Given the description of an element on the screen output the (x, y) to click on. 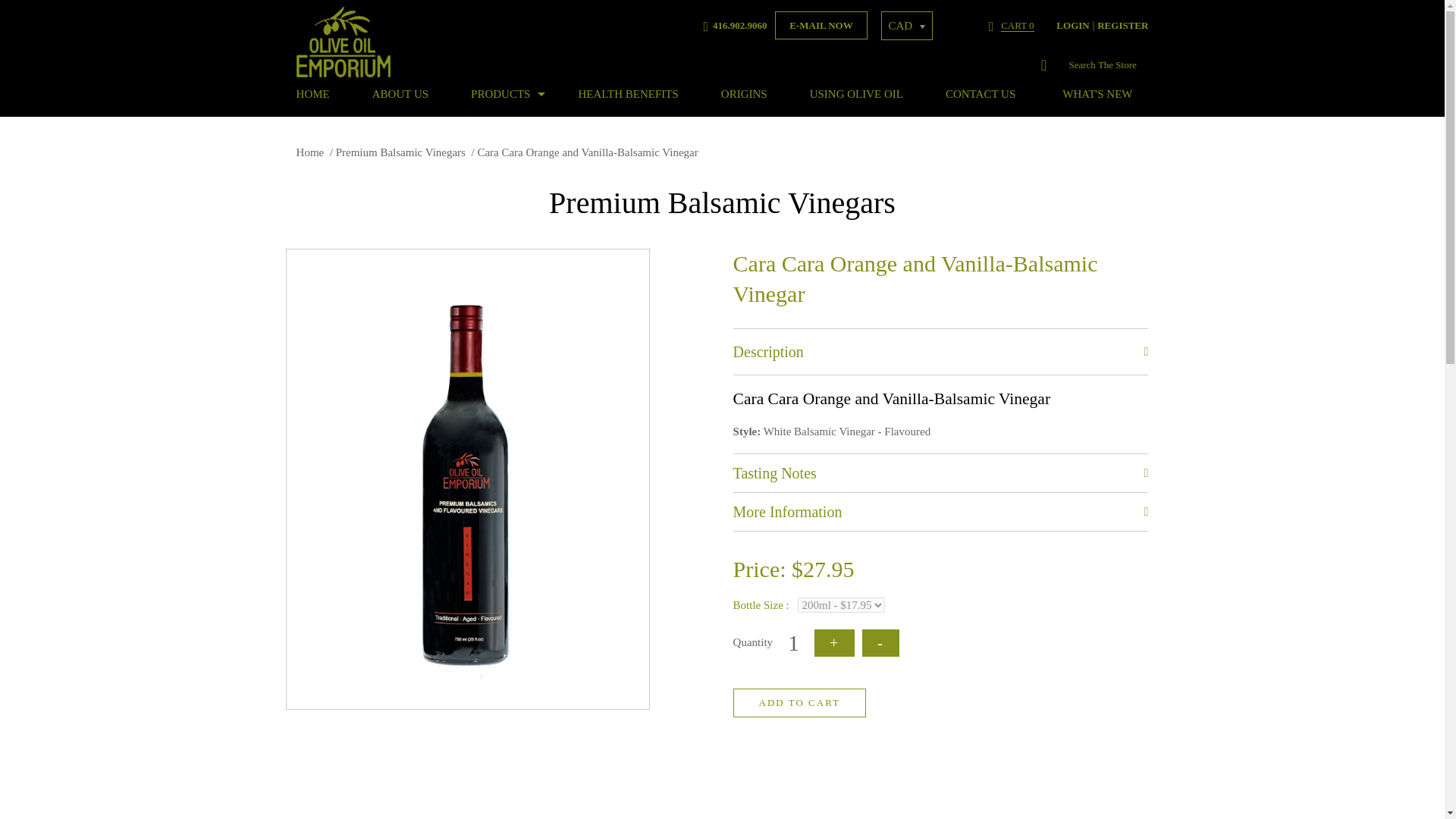
Search The Store (1107, 65)
REGISTER (1122, 25)
Add to cart (799, 702)
ABOUT US (399, 93)
HOME (323, 93)
PRODUCTS (502, 93)
E-MAIL NOW (820, 25)
CART 0 (1012, 24)
LOGIN (1073, 25)
Search The Store (1107, 65)
416.902.9060 (737, 25)
CAD (906, 25)
